Given the description of an element on the screen output the (x, y) to click on. 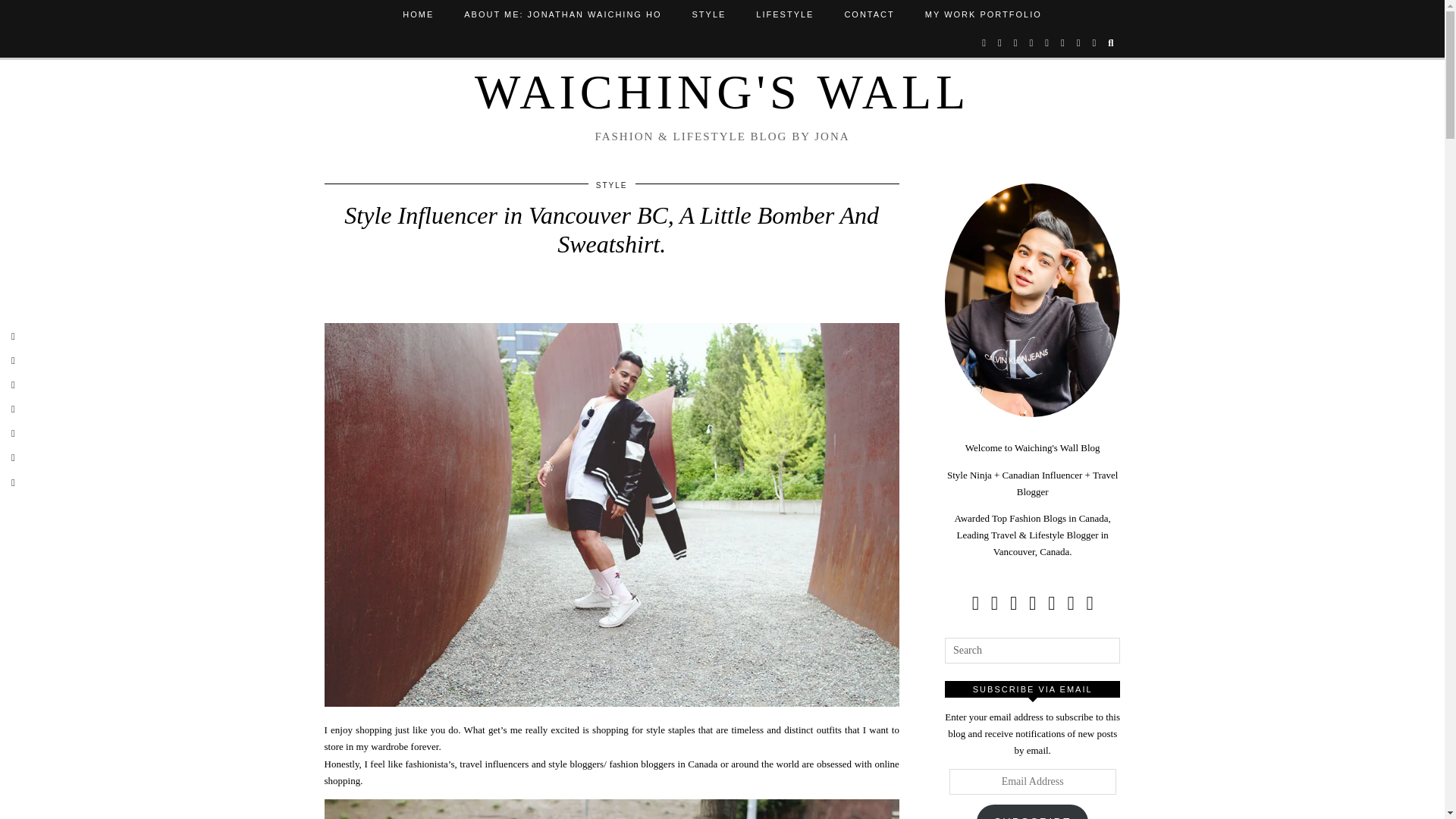
Twitter (984, 42)
Waiching's Wall (721, 91)
